Given the description of an element on the screen output the (x, y) to click on. 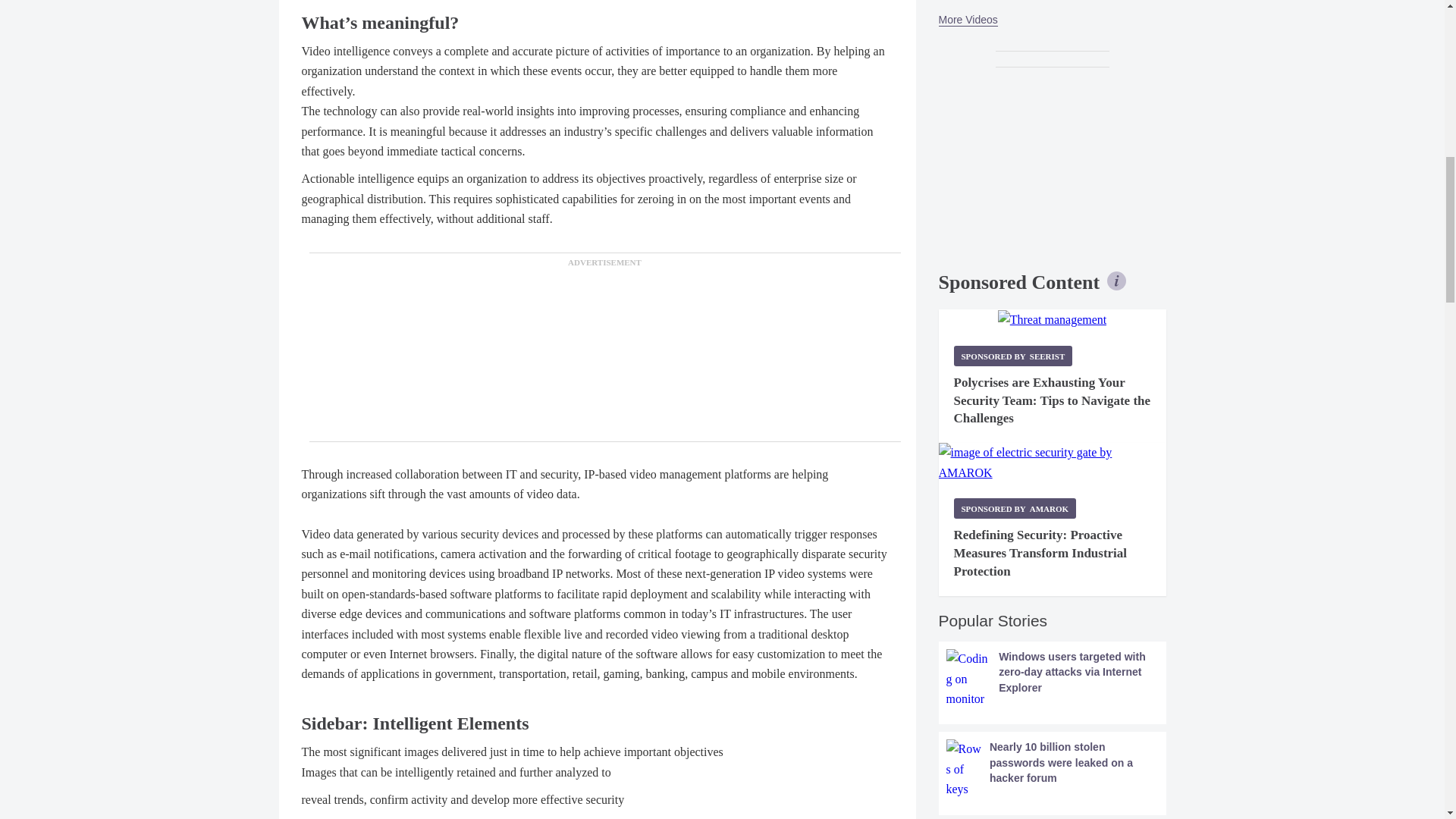
Sponsored by Seerist (1013, 355)
Sponsored by AMAROK (1015, 507)
Threat management (1051, 320)
AMAROK Security Gate (1052, 463)
